Given the description of an element on the screen output the (x, y) to click on. 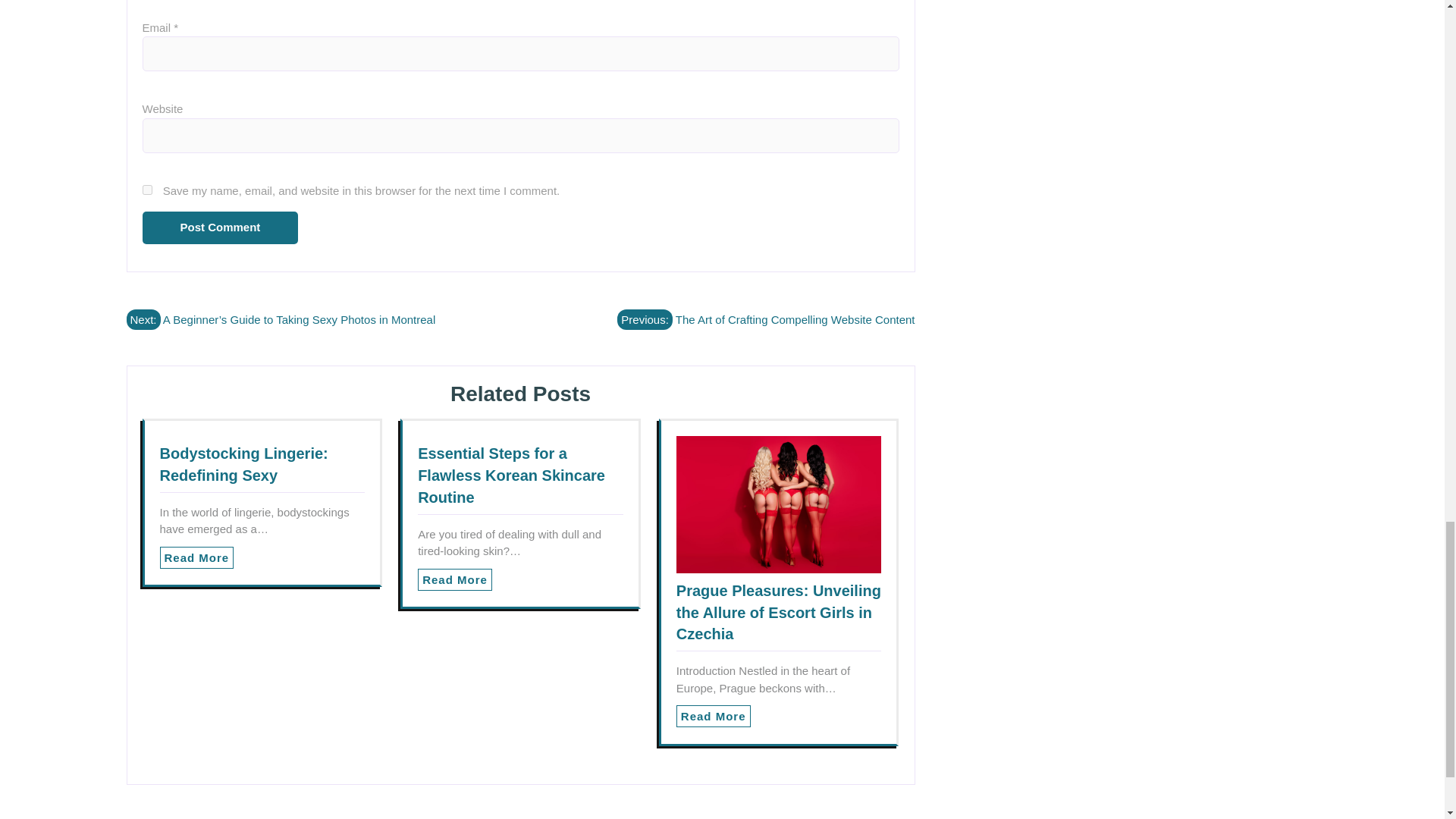
Read More (714, 716)
Bodystocking Lingerie: Redefining Sexy (242, 464)
Previous: The Art of Crafting Compelling Website Content (765, 319)
Essential Steps for a Flawless Korean Skincare Routine (511, 475)
Read More (195, 557)
yes (147, 189)
Post Comment (220, 227)
Post Comment (220, 227)
Essential Steps for a Flawless Korean Skincare Routine (511, 475)
Bodystocking Lingerie: Redefining Sexy (242, 464)
Read More (195, 557)
Read More (714, 716)
Read More (454, 579)
